Given the description of an element on the screen output the (x, y) to click on. 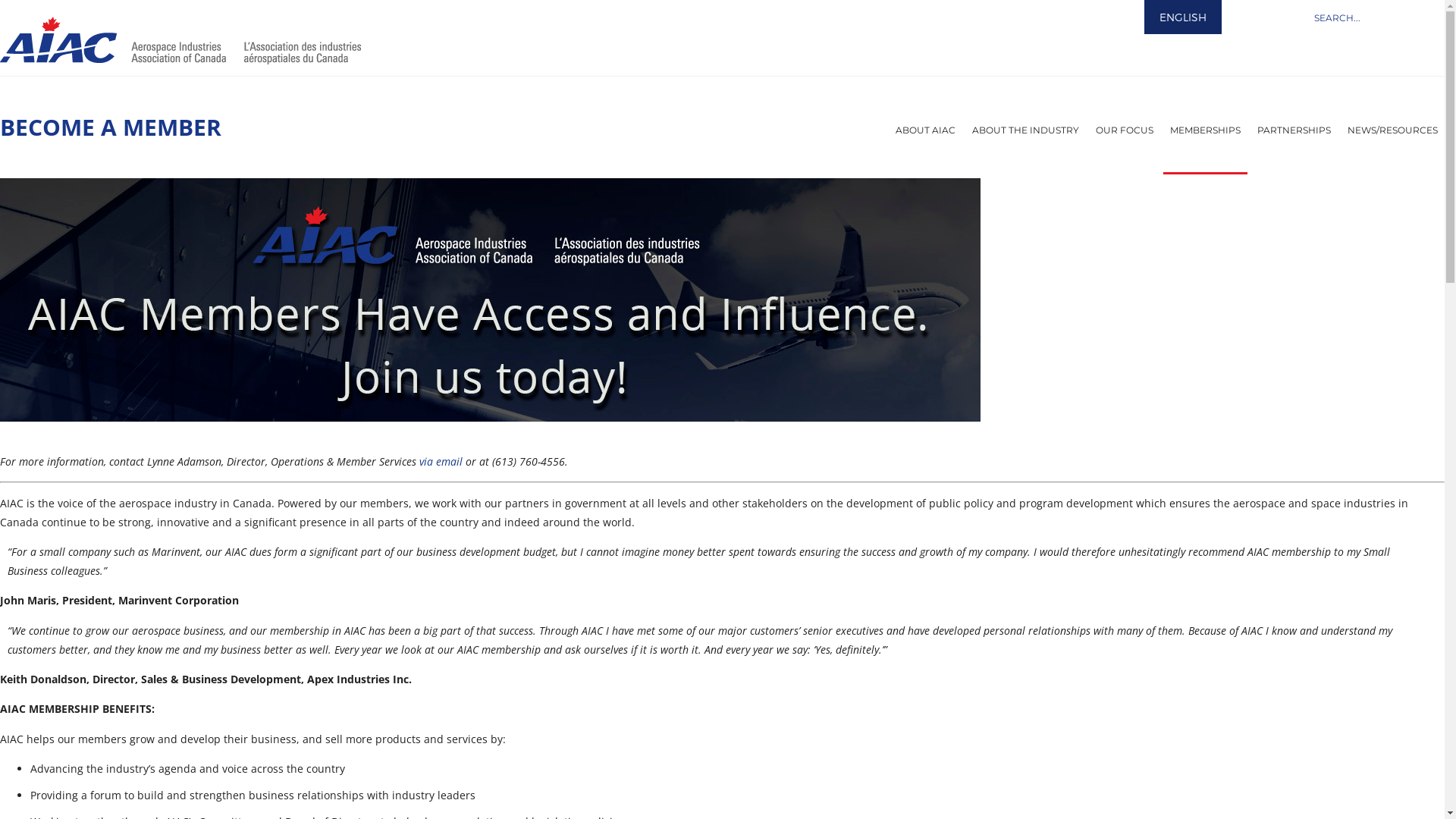
via email Element type: text (440, 460)
ENGLISH Element type: text (1182, 17)
ABOUT AIAC Element type: text (925, 130)
NEWS/RESOURCES Element type: text (1392, 130)
MEMBERSHIPS Element type: text (1205, 130)
OUR FOCUS Element type: text (1124, 130)
PARTNERSHIPS Element type: text (1293, 130)
ABOUT THE INDUSTRY Element type: text (1025, 130)
